Given the description of an element on the screen output the (x, y) to click on. 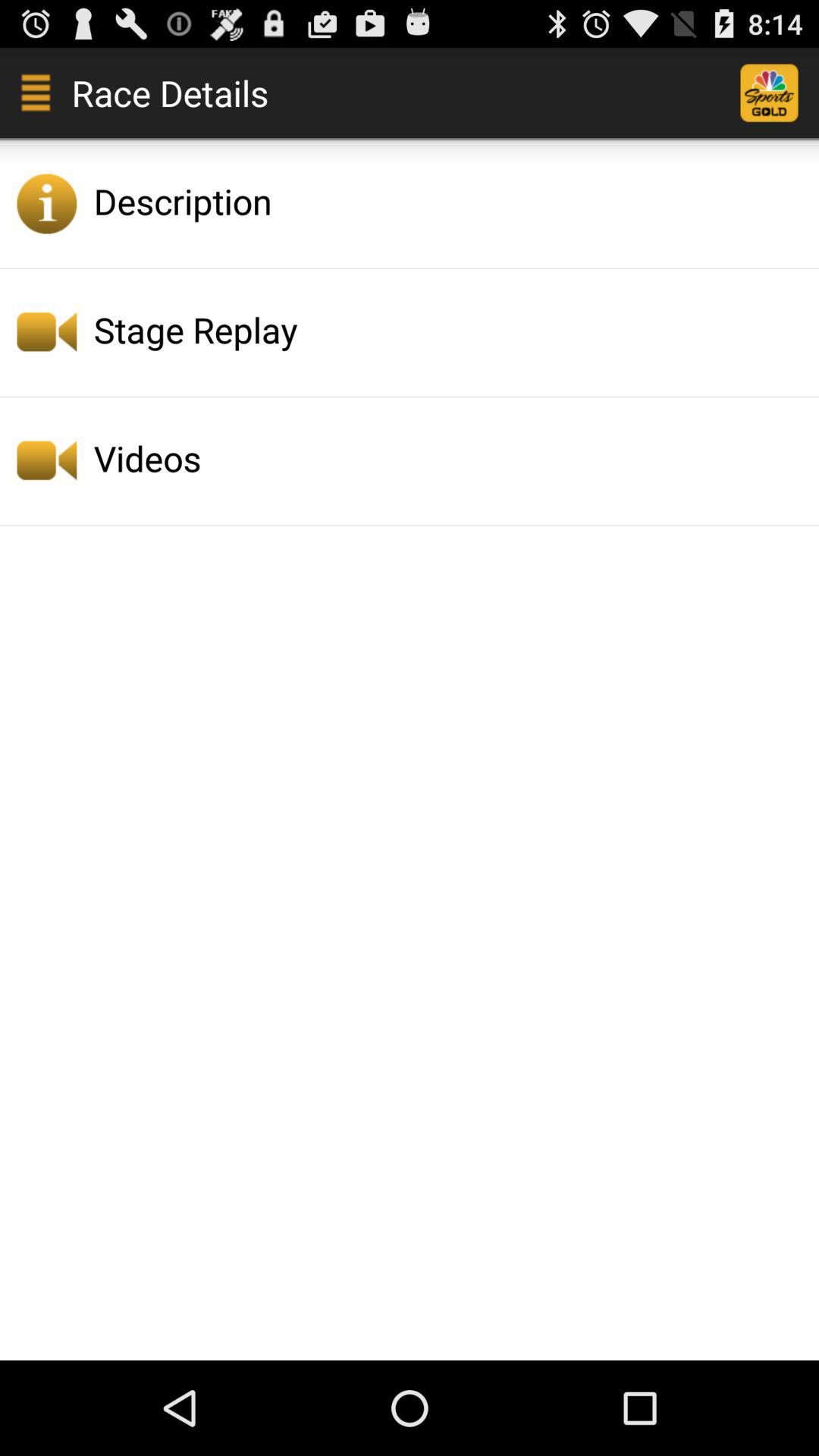
click the icon above the videos (452, 329)
